Given the description of an element on the screen output the (x, y) to click on. 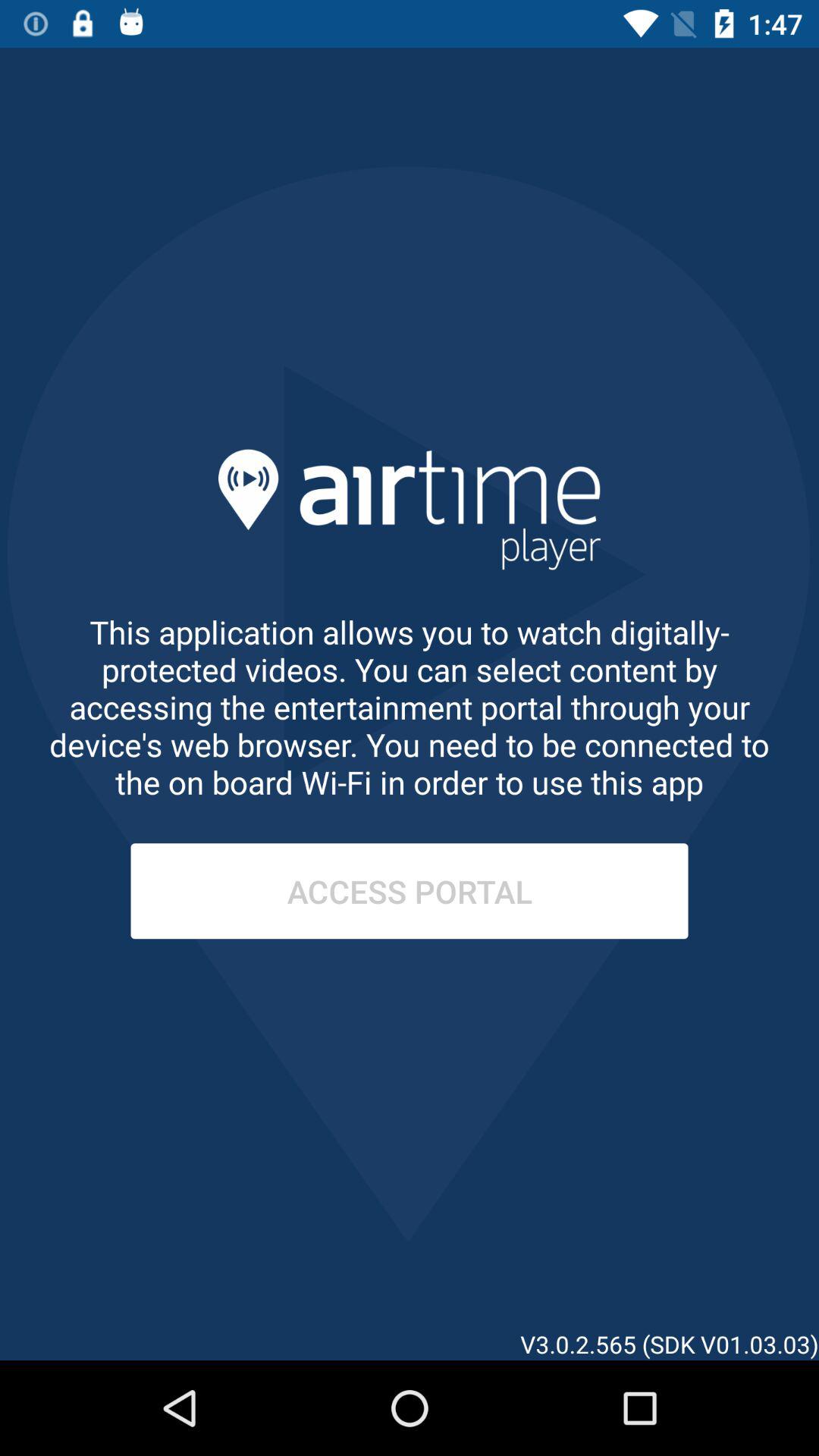
tap icon below the this application allows item (409, 891)
